Given the description of an element on the screen output the (x, y) to click on. 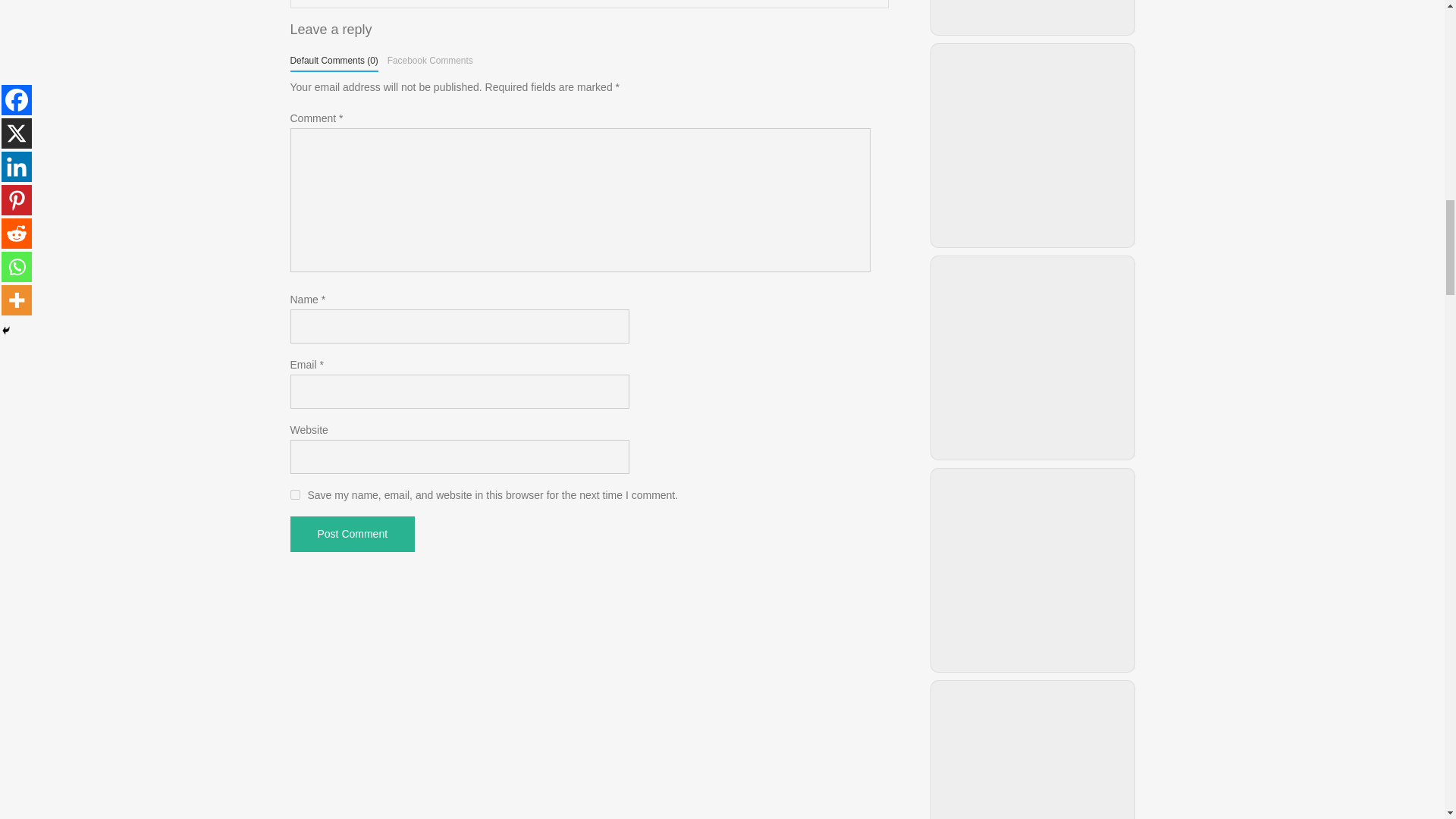
Post Comment (351, 534)
yes (294, 494)
